Given the description of an element on the screen output the (x, y) to click on. 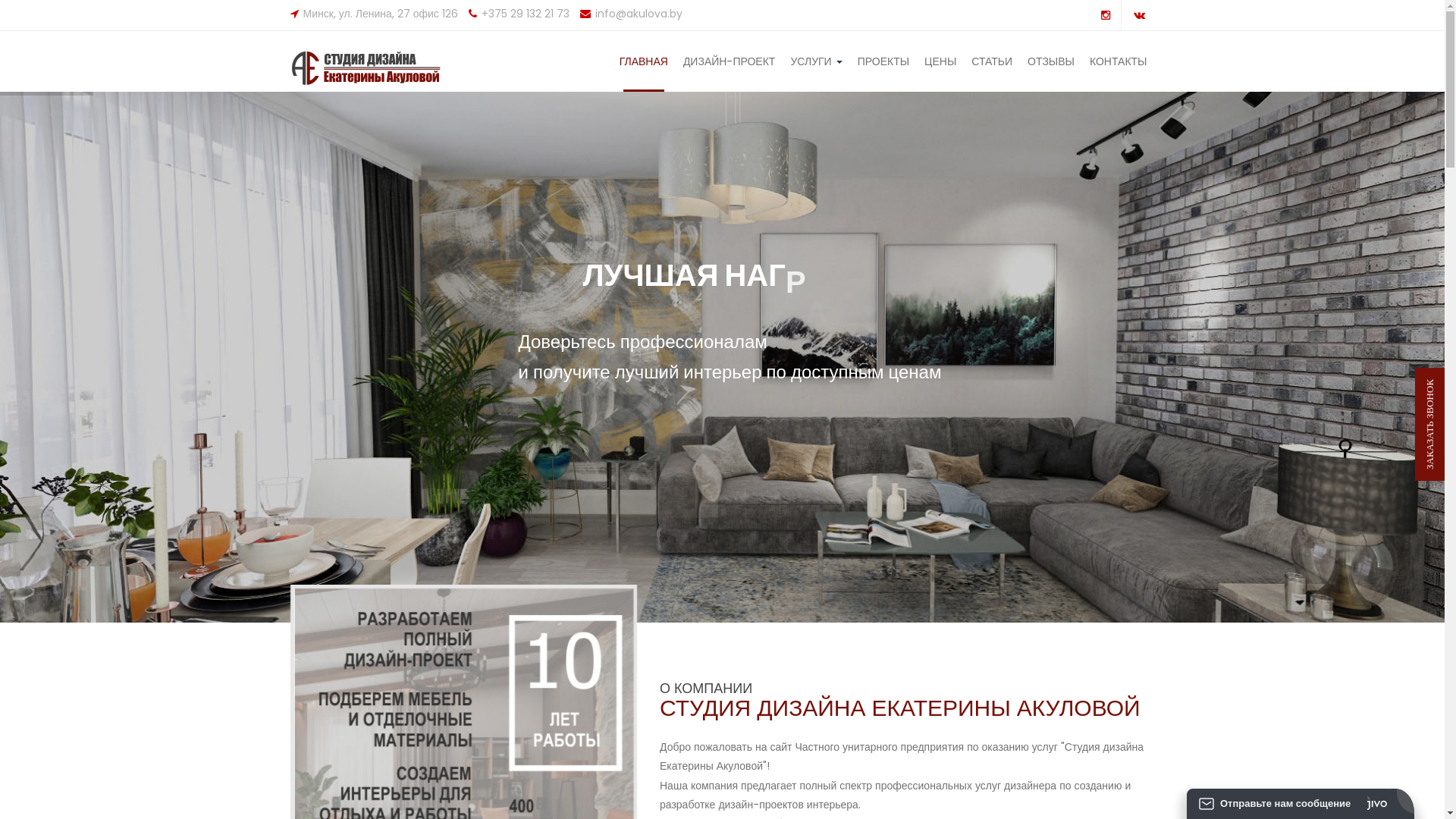
akulova.by Element type: hover (373, 67)
